Given the description of an element on the screen output the (x, y) to click on. 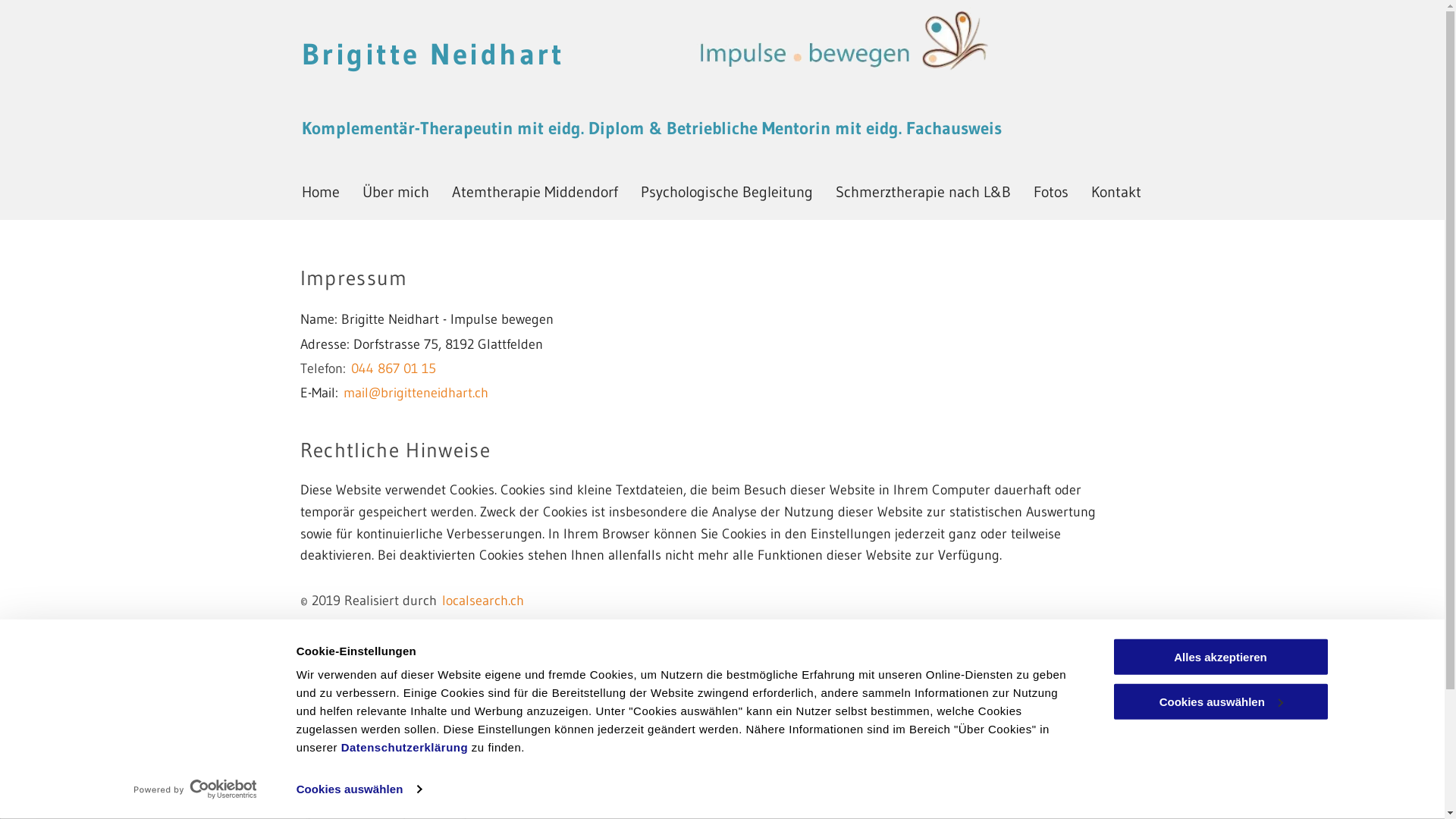
Psychologische Begleitung Element type: text (726, 191)
localsearch.ch Element type: text (482, 600)
Alles akzeptieren Element type: text (1219, 656)
mail@brigitteneidhart.ch Element type: text (414, 392)
Atemtherapie Middendorf Element type: text (534, 191)
044 867 01 15 Element type: text (392, 368)
Schmerztherapie nach L&B Element type: text (922, 191)
search.ch Element type: text (544, 624)
local.ch Element type: text (464, 624)
Kontakt Element type: text (1115, 191)
Fotos Element type: text (1049, 191)
Home Element type: text (320, 191)
Brigitte Neidhart Element type: text (432, 53)
